Given the description of an element on the screen output the (x, y) to click on. 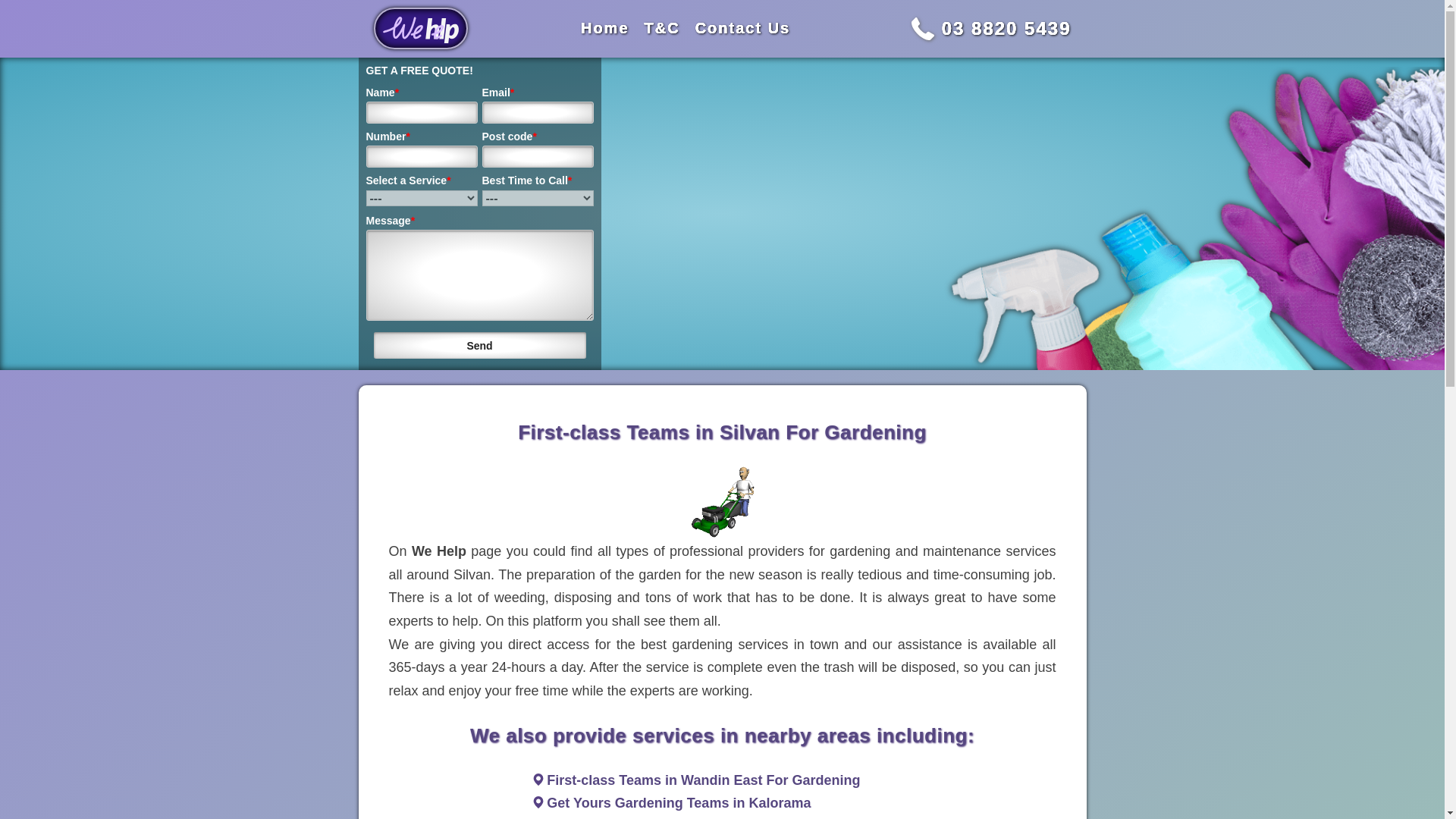
gardeners (722, 501)
Home (604, 28)
First-class Teams in Wandin East For Gardening (703, 780)
Get Yours Gardening Teams in Kalorama (678, 802)
03 8820 5439 (1006, 28)
Get Yours Gardening Teams in Kalorama (678, 802)
First-class Teams in Wandin East For Gardening (703, 780)
Contact Us (742, 28)
Send (478, 345)
Send (478, 345)
